Given the description of an element on the screen output the (x, y) to click on. 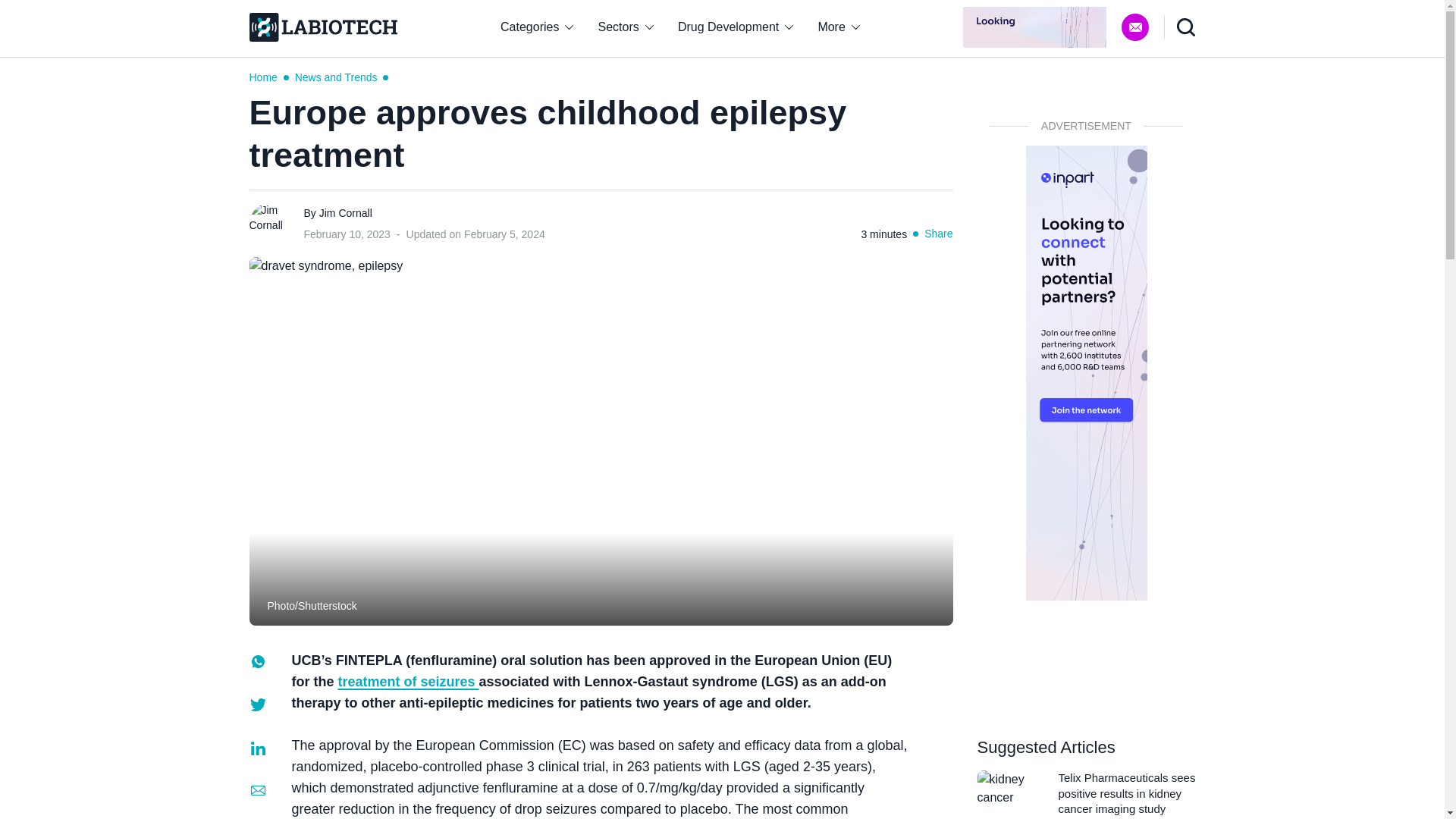
Drug Development (735, 27)
Categories (536, 27)
Labiotech.eu (322, 27)
Sectors (625, 27)
